Given the description of an element on the screen output the (x, y) to click on. 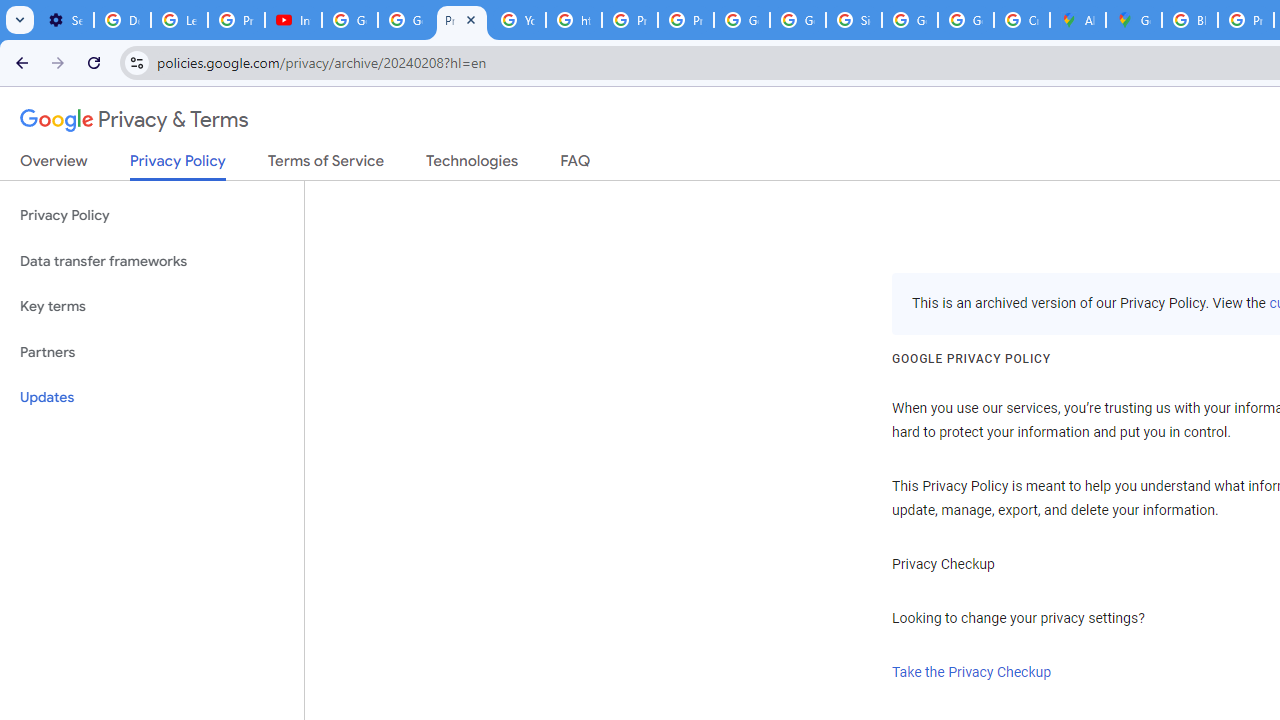
FAQ (575, 165)
Create your Google Account (1021, 20)
Key terms (152, 306)
Delete photos & videos - Computer - Google Photos Help (122, 20)
Google Maps (1133, 20)
Take the Privacy Checkup (972, 672)
